Given the description of an element on the screen output the (x, y) to click on. 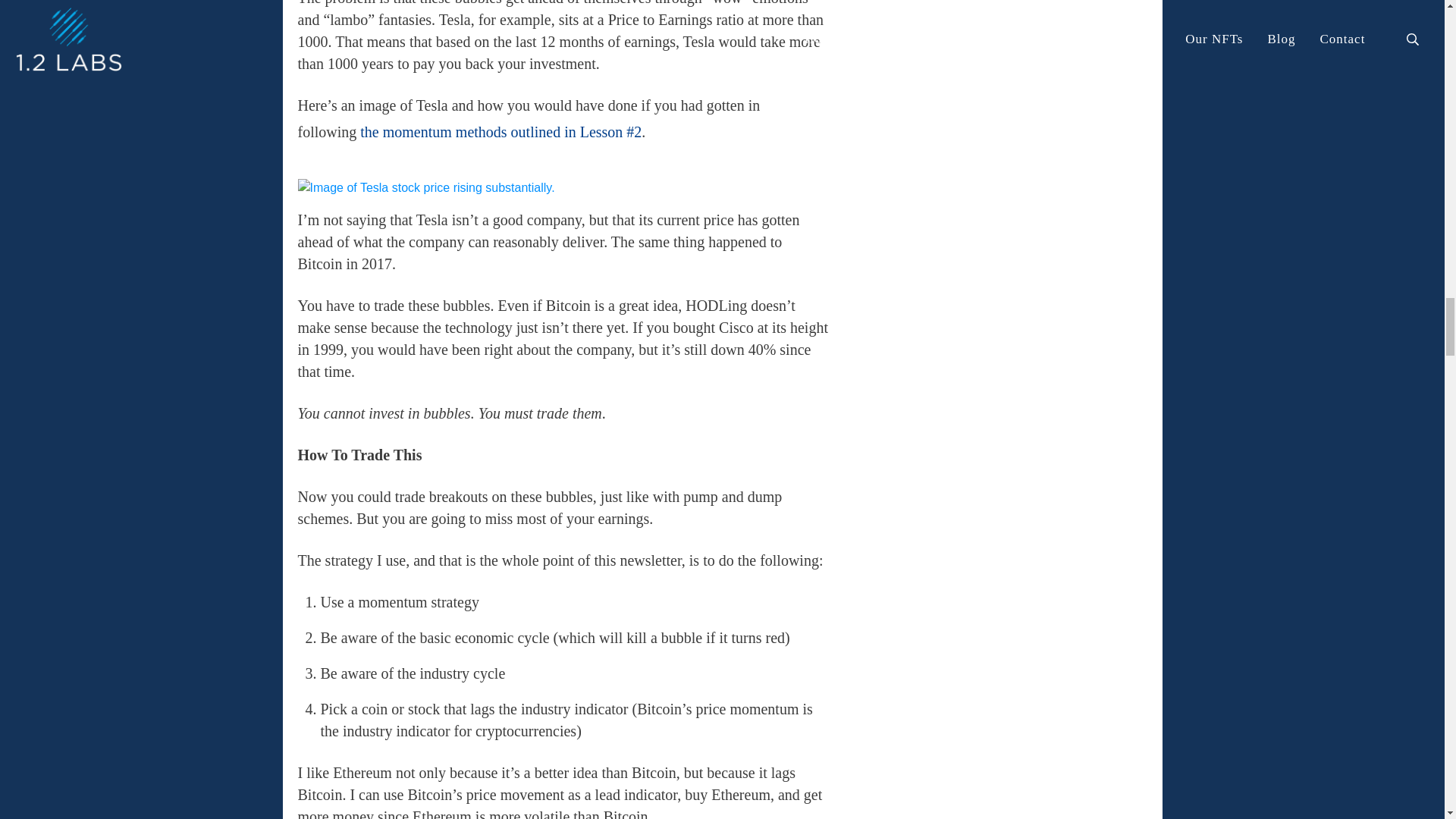
Image of Tesla stock price rising substantially. (425, 188)
